Given the description of an element on the screen output the (x, y) to click on. 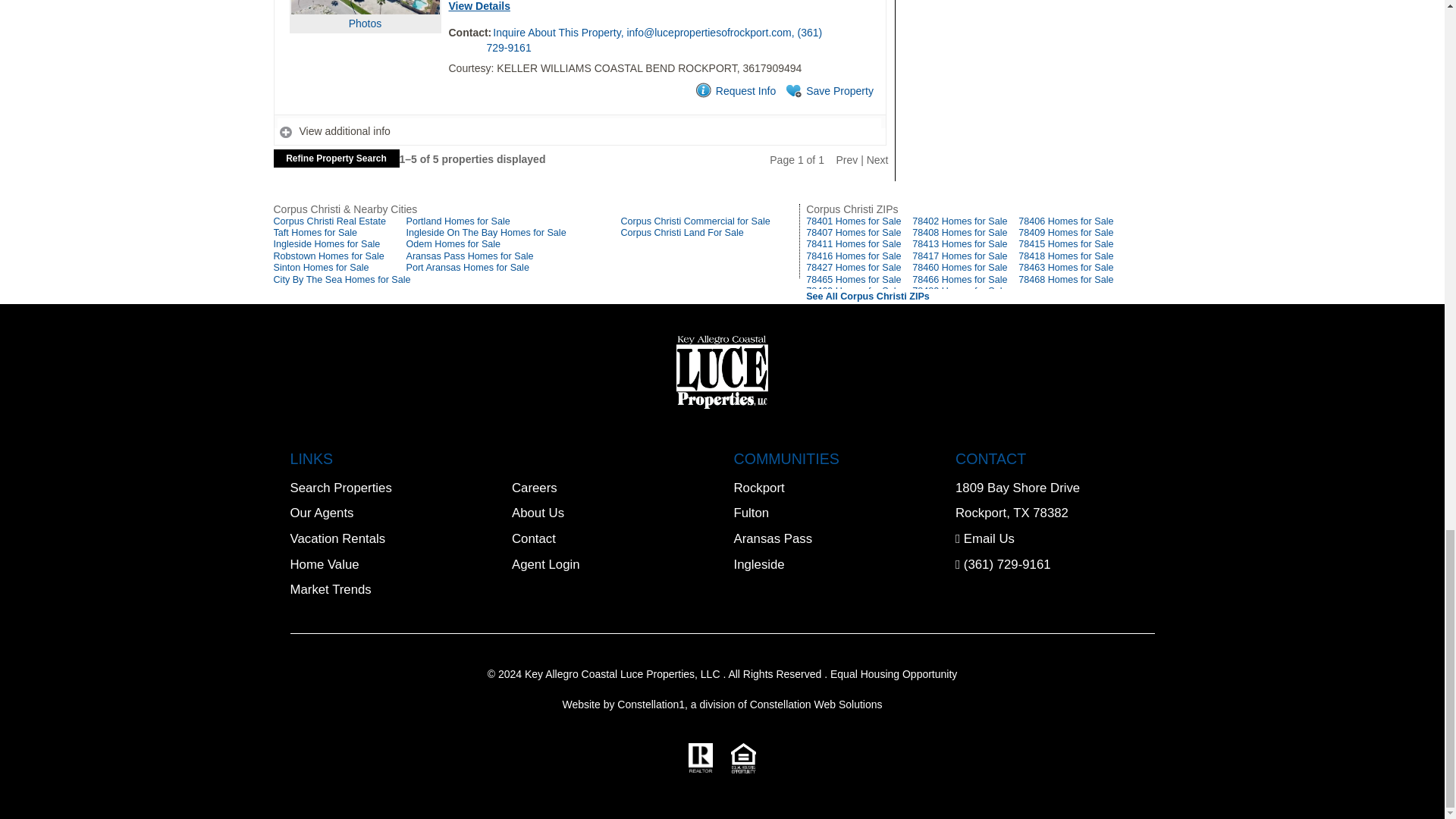
View property remarks and map (580, 131)
